Given the description of an element on the screen output the (x, y) to click on. 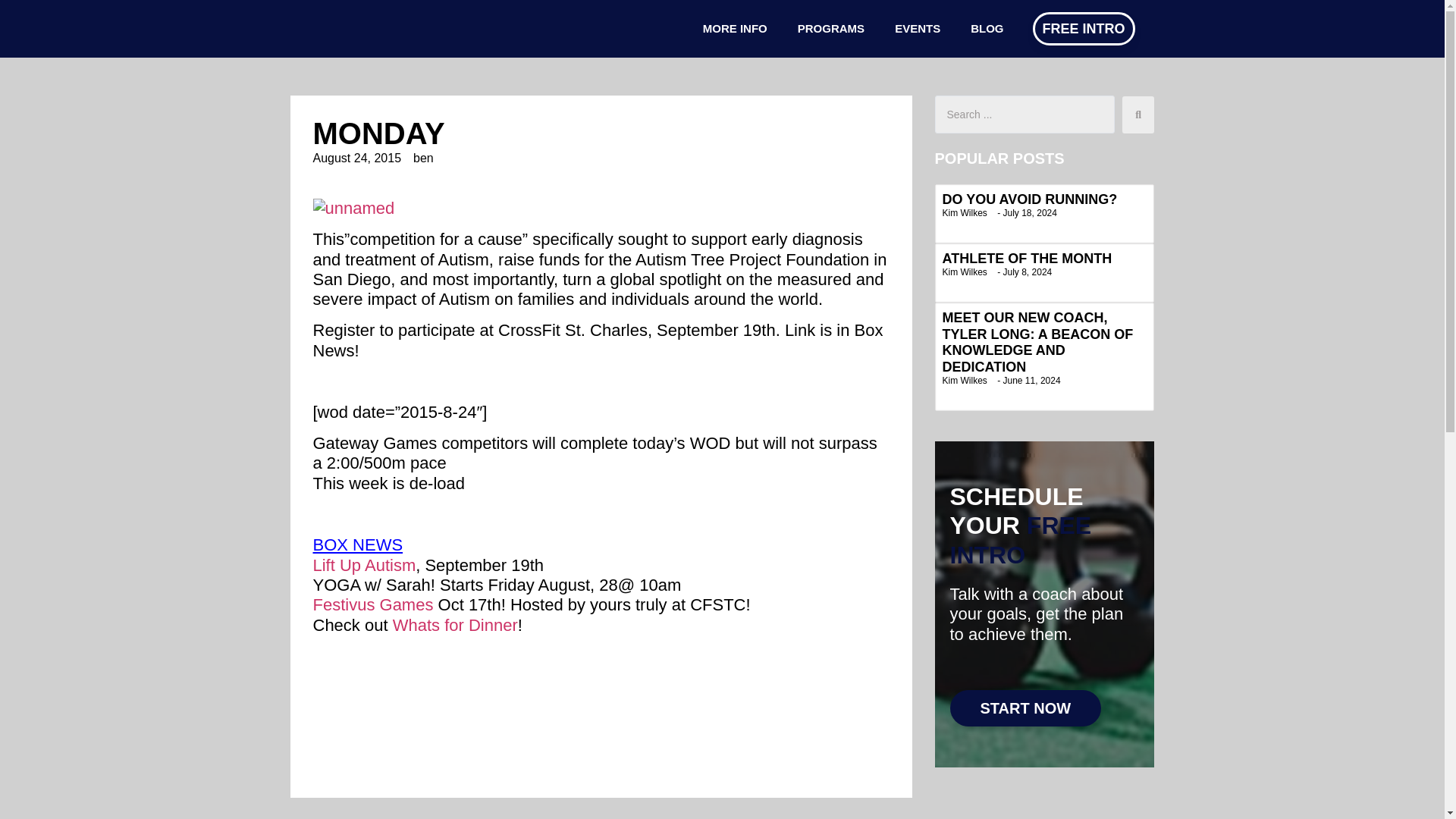
ATHLETE OF THE MONTH (1027, 258)
Whats for Dinner (455, 624)
EVENTS (917, 28)
Festivus Games (372, 604)
DO YOU AVOID RUNNING? (1029, 199)
FREE INTRO (1083, 28)
MORE INFO (735, 28)
BLOG (986, 28)
Lift Up Autism (363, 565)
PROGRAMS (831, 28)
